Given the description of an element on the screen output the (x, y) to click on. 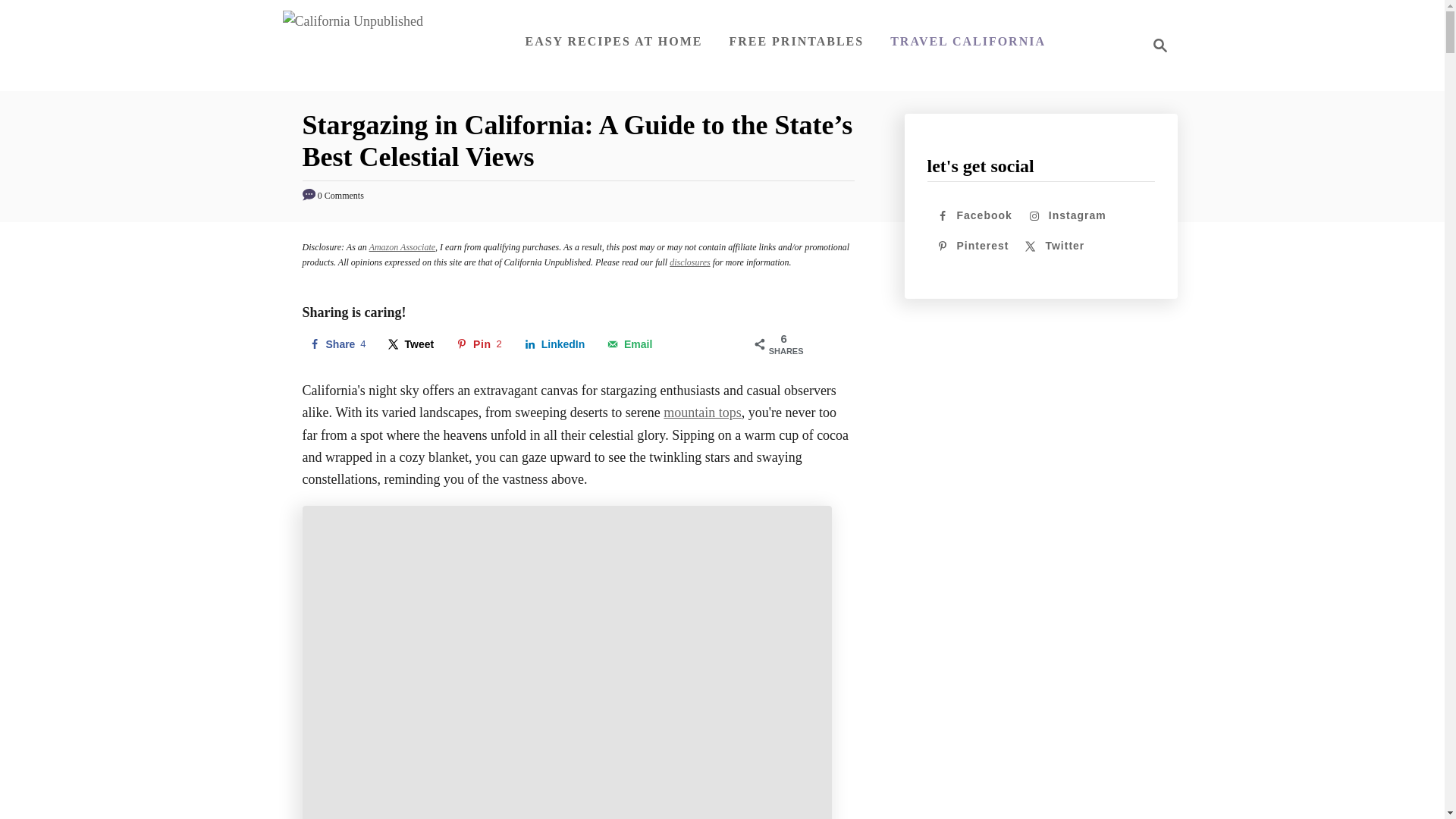
Amazon Associate (402, 246)
mountain tops (702, 412)
Share on X (411, 344)
FREE PRINTABLES (795, 41)
Share on Facebook (336, 344)
Magnifying Glass (1160, 45)
TRAVEL CALIFORNIA (967, 41)
Tweet (336, 344)
EASY RECIPES AT HOME (411, 344)
Send over email (613, 41)
Share on LinkedIn (629, 344)
disclosures (555, 344)
Save to Pinterest (689, 262)
